Given the description of an element on the screen output the (x, y) to click on. 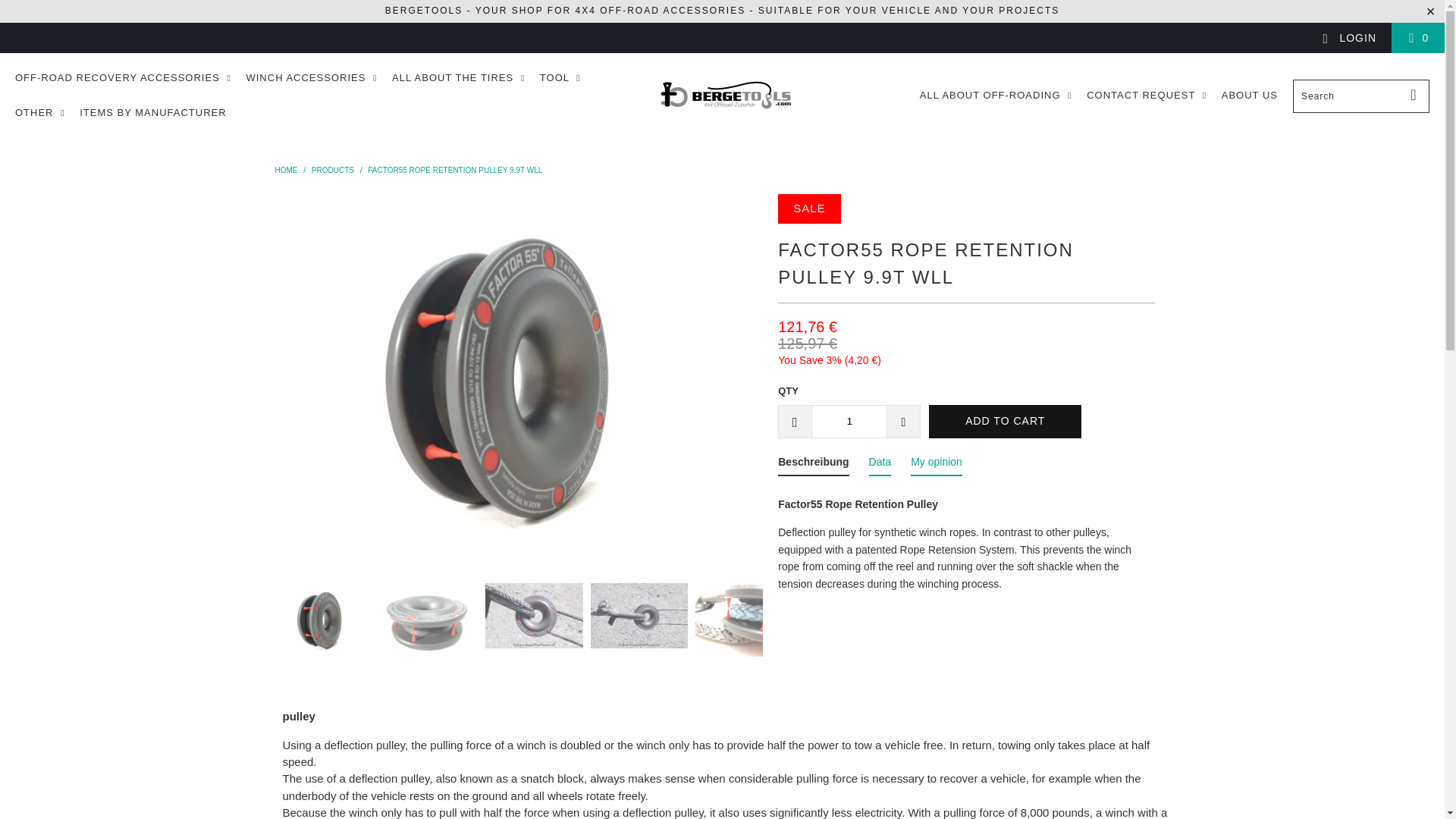
Bergetools (727, 96)
My Account  (1348, 37)
Bergetools (286, 170)
Products (332, 170)
1 (848, 421)
